Given the description of an element on the screen output the (x, y) to click on. 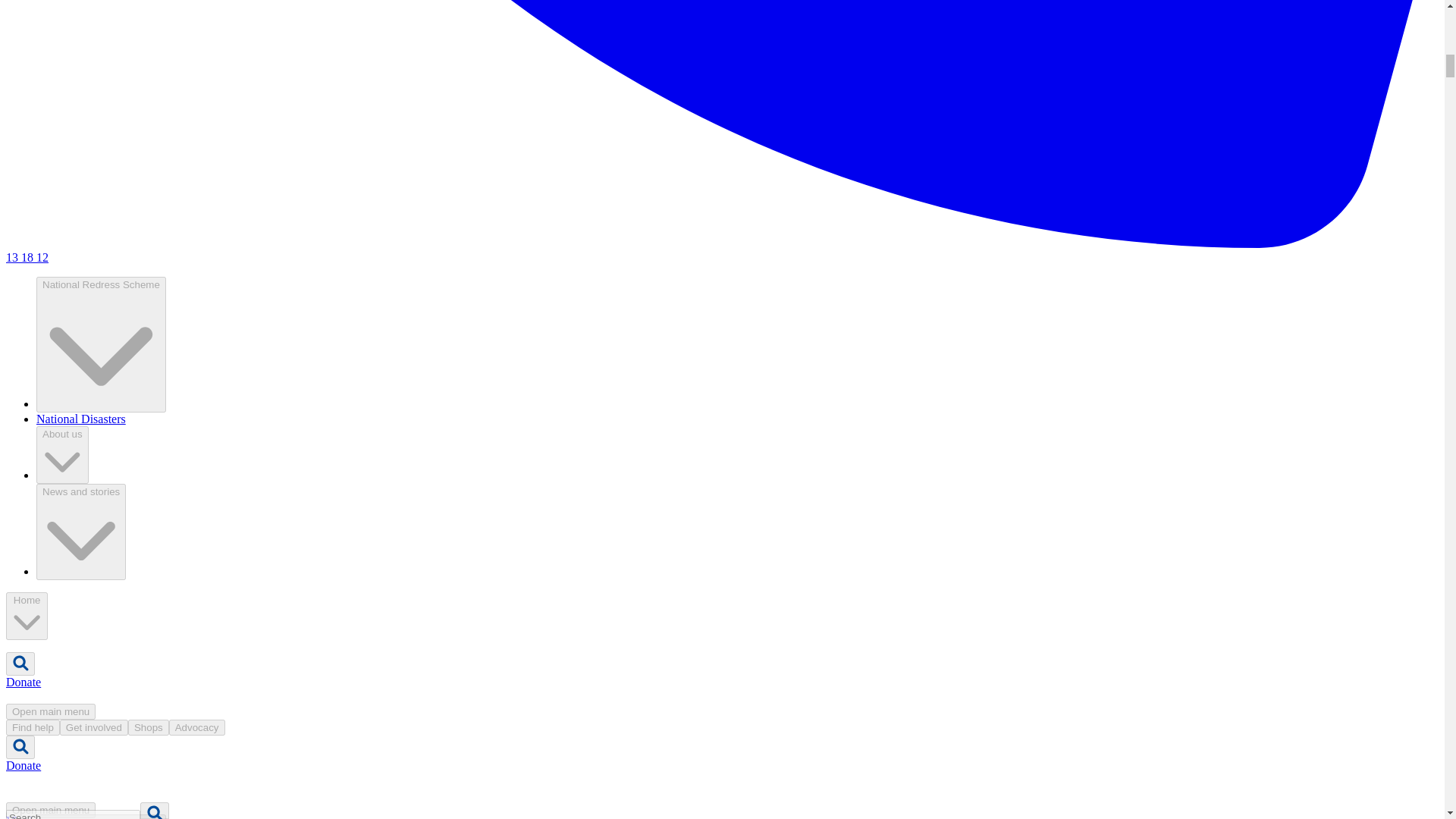
Advocacy (196, 727)
Open main menu (50, 810)
Find help (32, 727)
National Redress Scheme (100, 344)
Home (26, 615)
Open main menu (50, 711)
About us (62, 454)
Get involved (93, 727)
Shops (148, 727)
National Disasters (80, 418)
News and stories (80, 531)
